Given the description of an element on the screen output the (x, y) to click on. 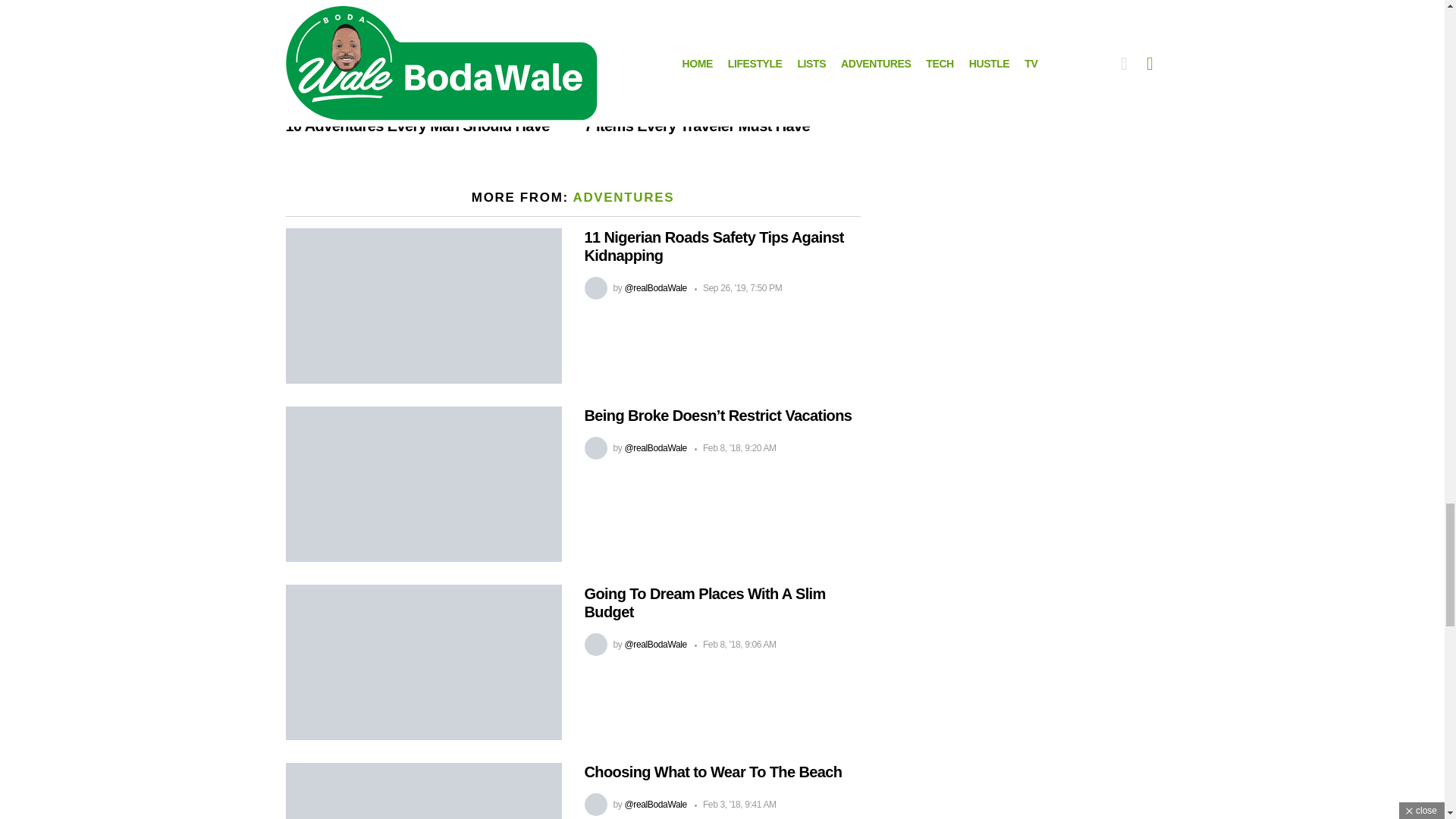
7 Items Every Traveler Must Have (721, 53)
10 Adventures Every Man Should Have (422, 53)
11 Nigerian Roads Safety Tips Against Kidnapping (422, 306)
